Given the description of an element on the screen output the (x, y) to click on. 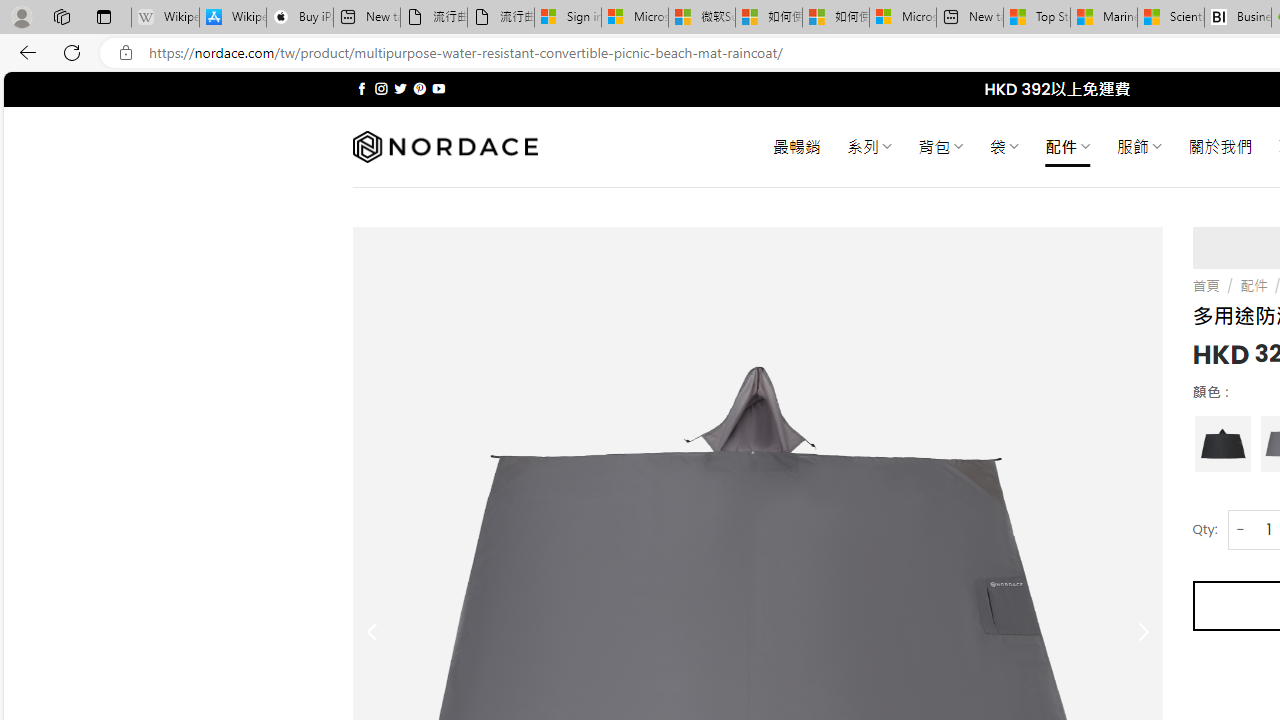
Follow on Pinterest (419, 88)
Sign in to your Microsoft account (568, 17)
Follow on YouTube (438, 88)
Microsoft Services Agreement (634, 17)
Top Stories - MSN (1036, 17)
